Given the description of an element on the screen output the (x, y) to click on. 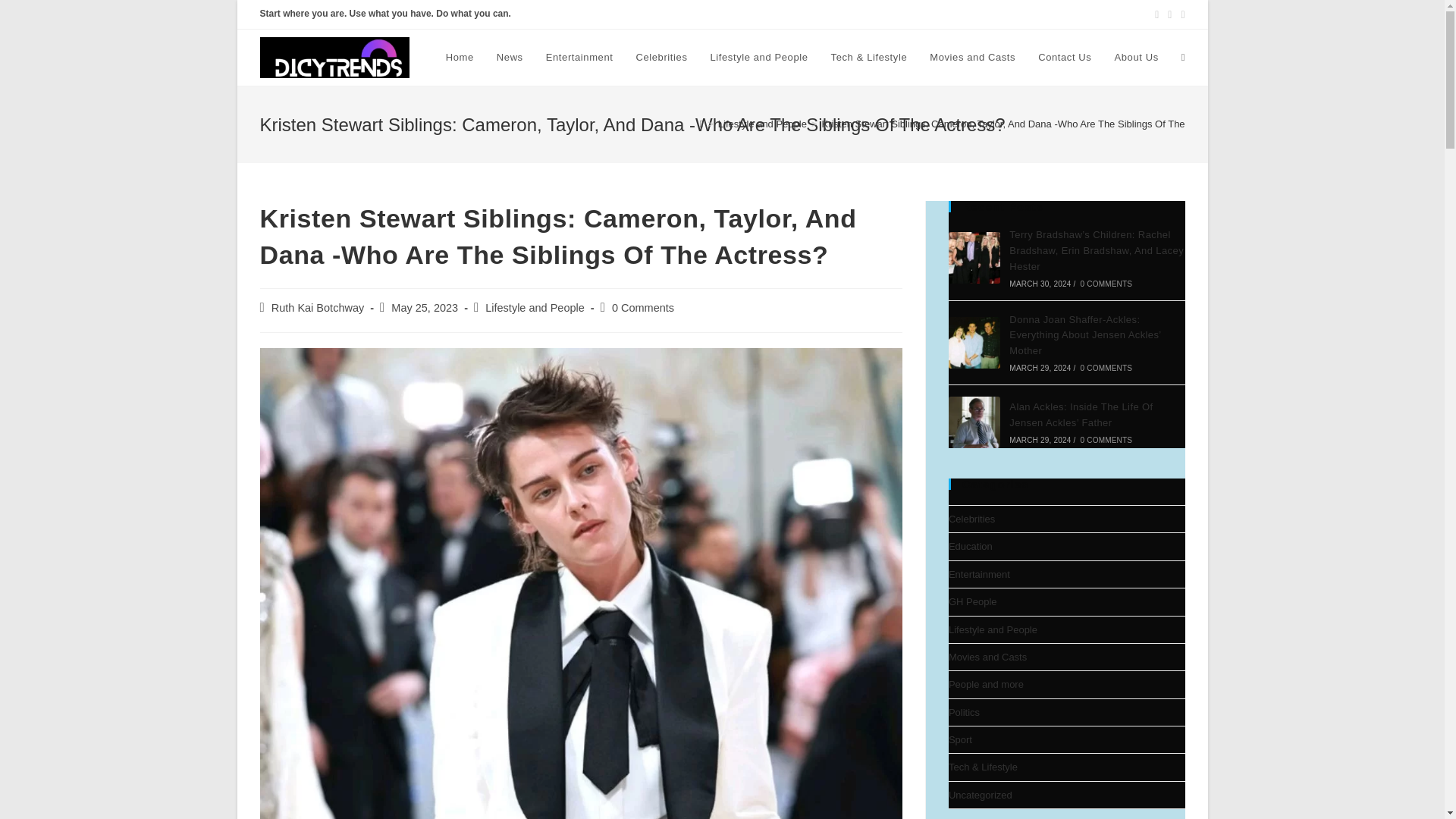
Celebrities (661, 57)
0 Comments (642, 307)
Lifestyle and People (761, 123)
Movies and Casts (972, 57)
Lifestyle and People (758, 57)
Lifestyle and People (534, 307)
Ruth Kai Botchway (317, 307)
Home (458, 57)
Contact Us (1064, 57)
Entertainment (579, 57)
About Us (1135, 57)
Posts by Ruth Kai Botchway (317, 307)
